Given the description of an element on the screen output the (x, y) to click on. 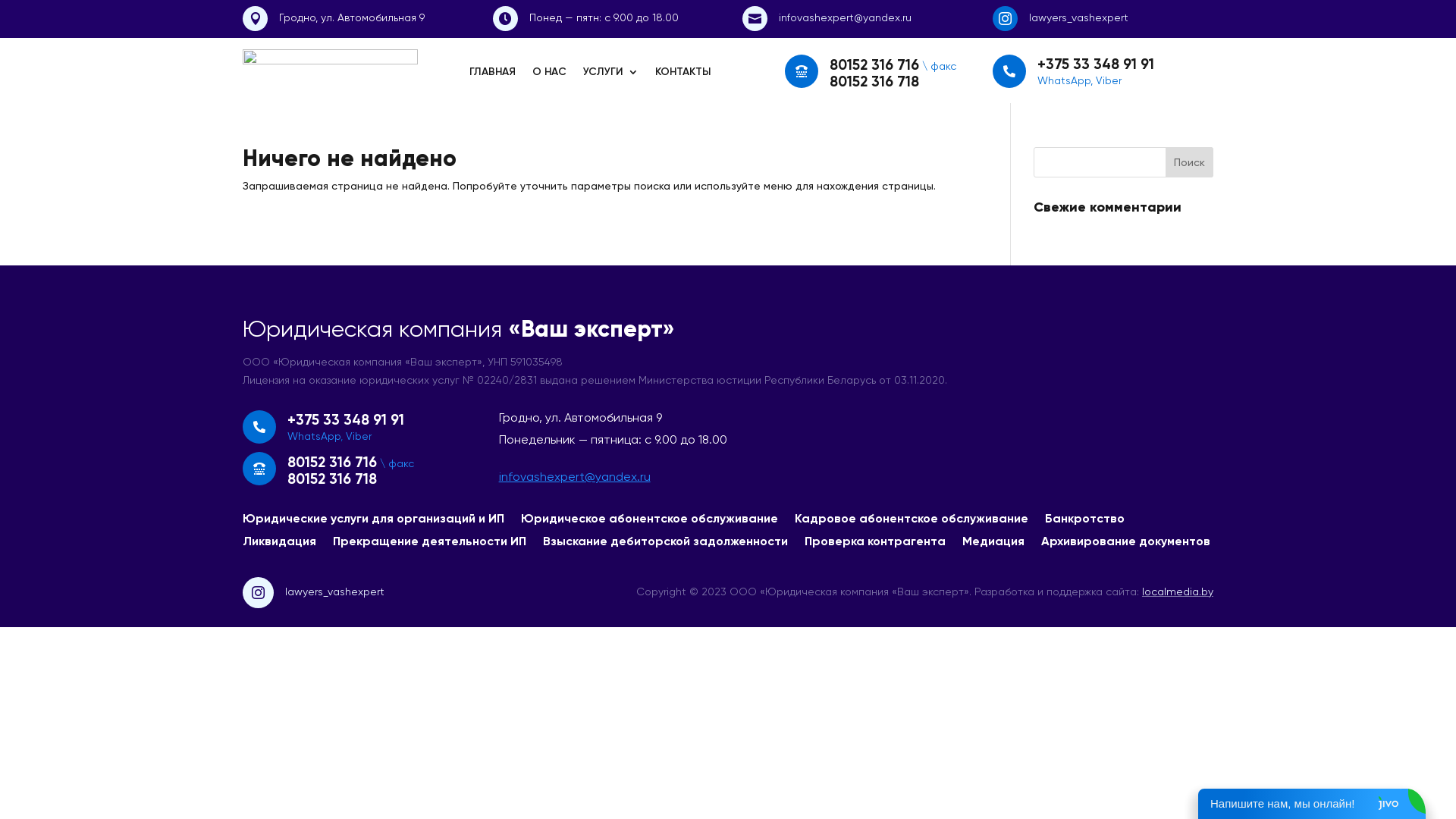
80152 316 718 Element type: text (331, 478)
WhatsApp Element type: text (1063, 80)
WhatsApp Element type: text (313, 435)
Viber Element type: text (1108, 80)
infovashexpert@yandex.ru Element type: text (574, 476)
+375 33 348 91 91 Element type: text (1095, 63)
+375 33 348 91 91 Element type: text (345, 419)
80152 316 718 Element type: text (874, 81)
80152 316 716 Element type: text (331, 461)
localmedia.by Element type: text (1177, 591)
80152 316 716 Element type: text (874, 64)
logo Element type: hover (329, 70)
Viber Element type: text (358, 435)
infovashexpert@yandex.ru Element type: text (844, 17)
